Given the description of an element on the screen output the (x, y) to click on. 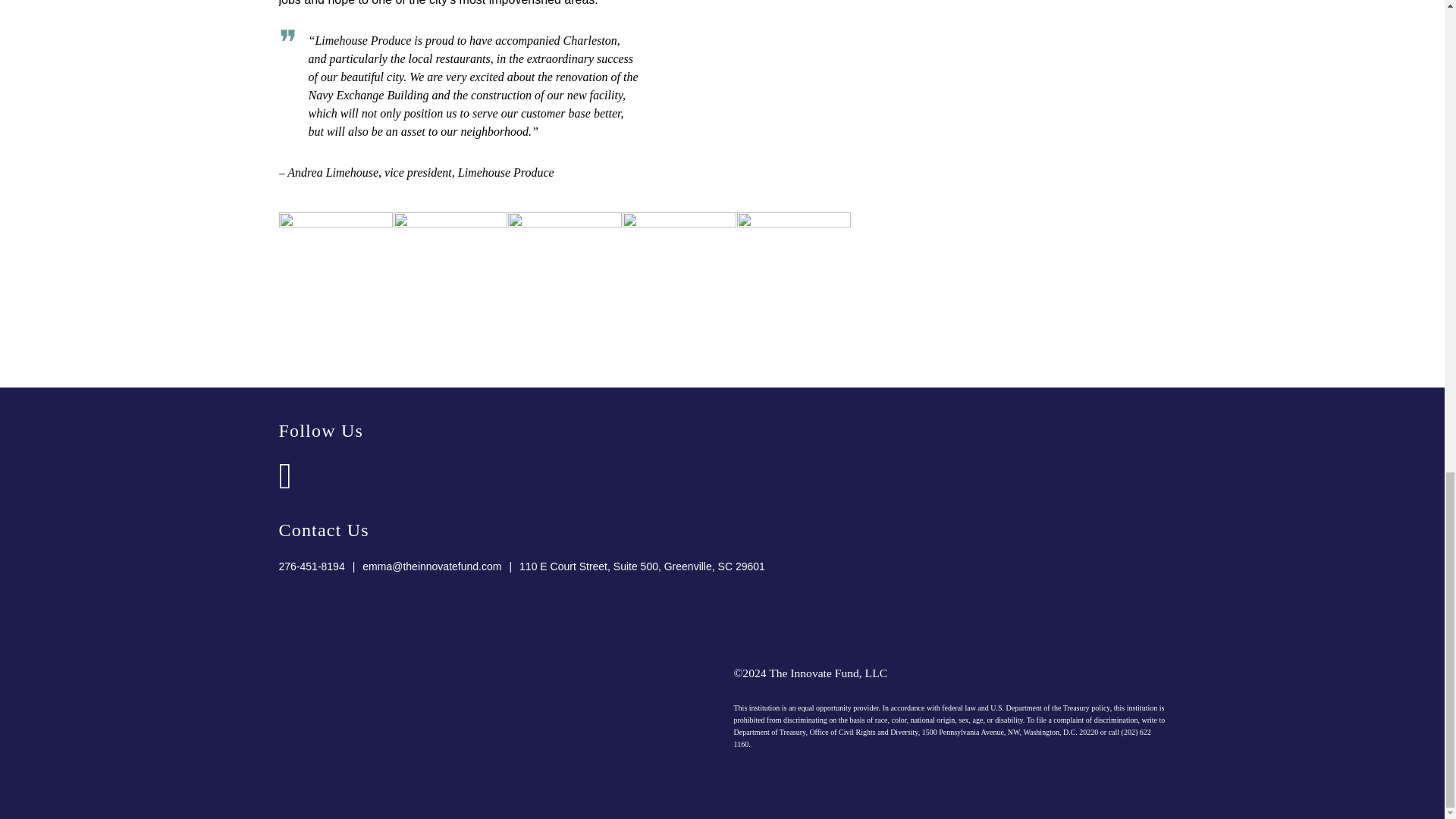
Limehouse-Produce-logo-ad1 (678, 268)
GHP-HarvestDinner2013-201 (564, 268)
externships-limehouse (336, 268)
Limehouse-grown-ad1 (449, 268)
